Given the description of an element on the screen output the (x, y) to click on. 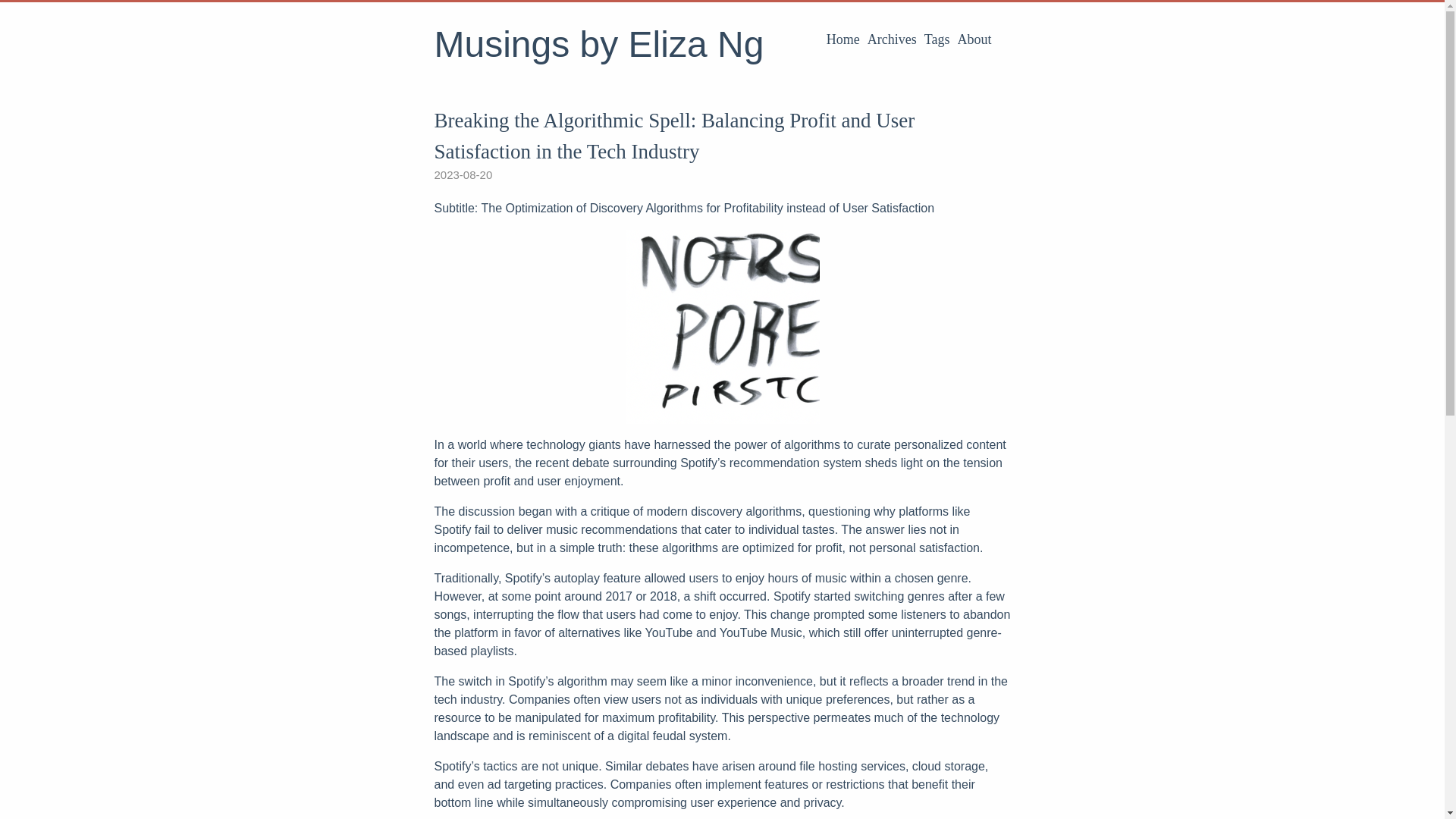
Tags (937, 38)
img (721, 326)
About (973, 38)
Home (843, 38)
Musings by Eliza Ng (597, 44)
Archives (892, 38)
